Given the description of an element on the screen output the (x, y) to click on. 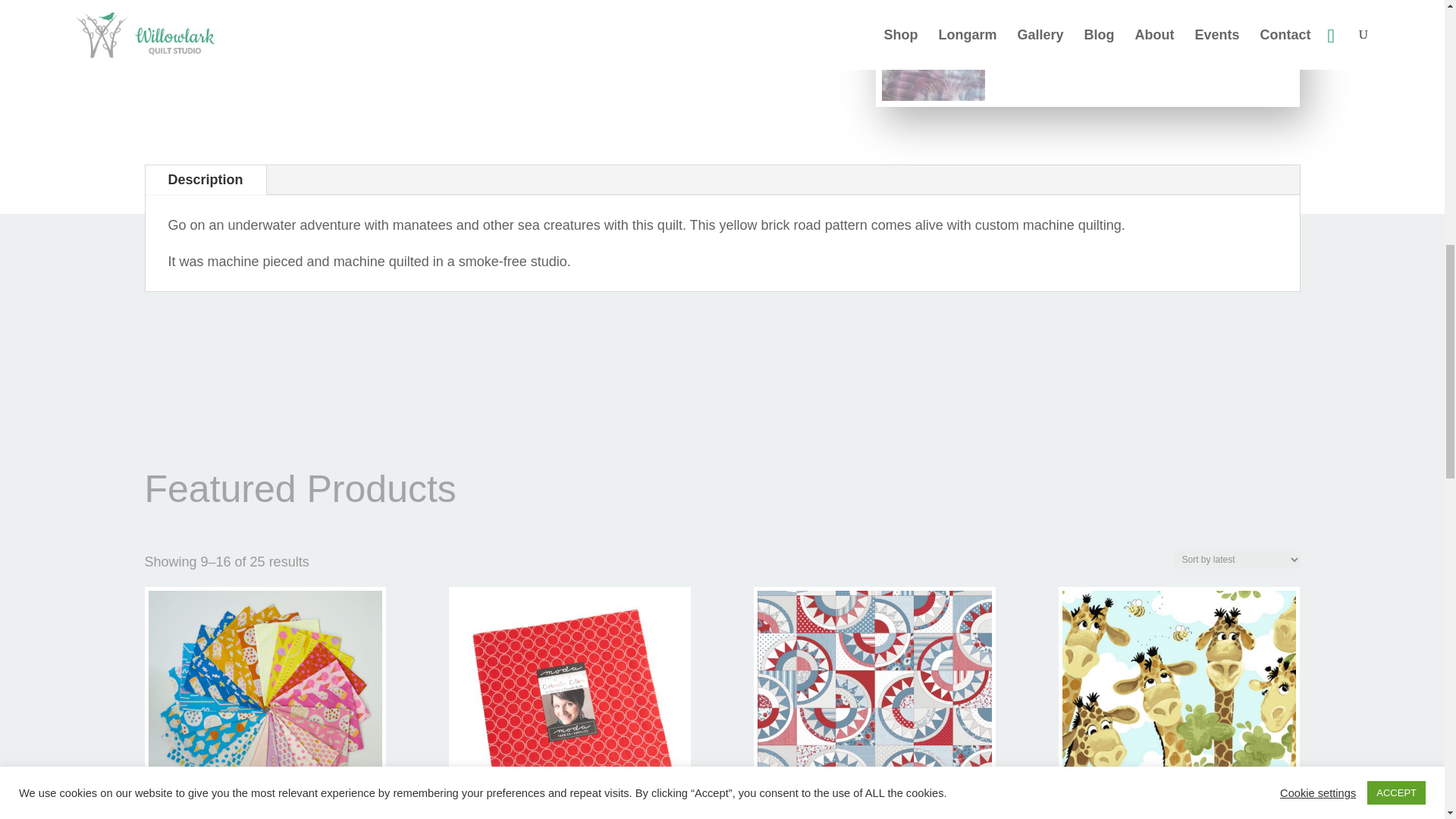
Description (205, 179)
